Given the description of an element on the screen output the (x, y) to click on. 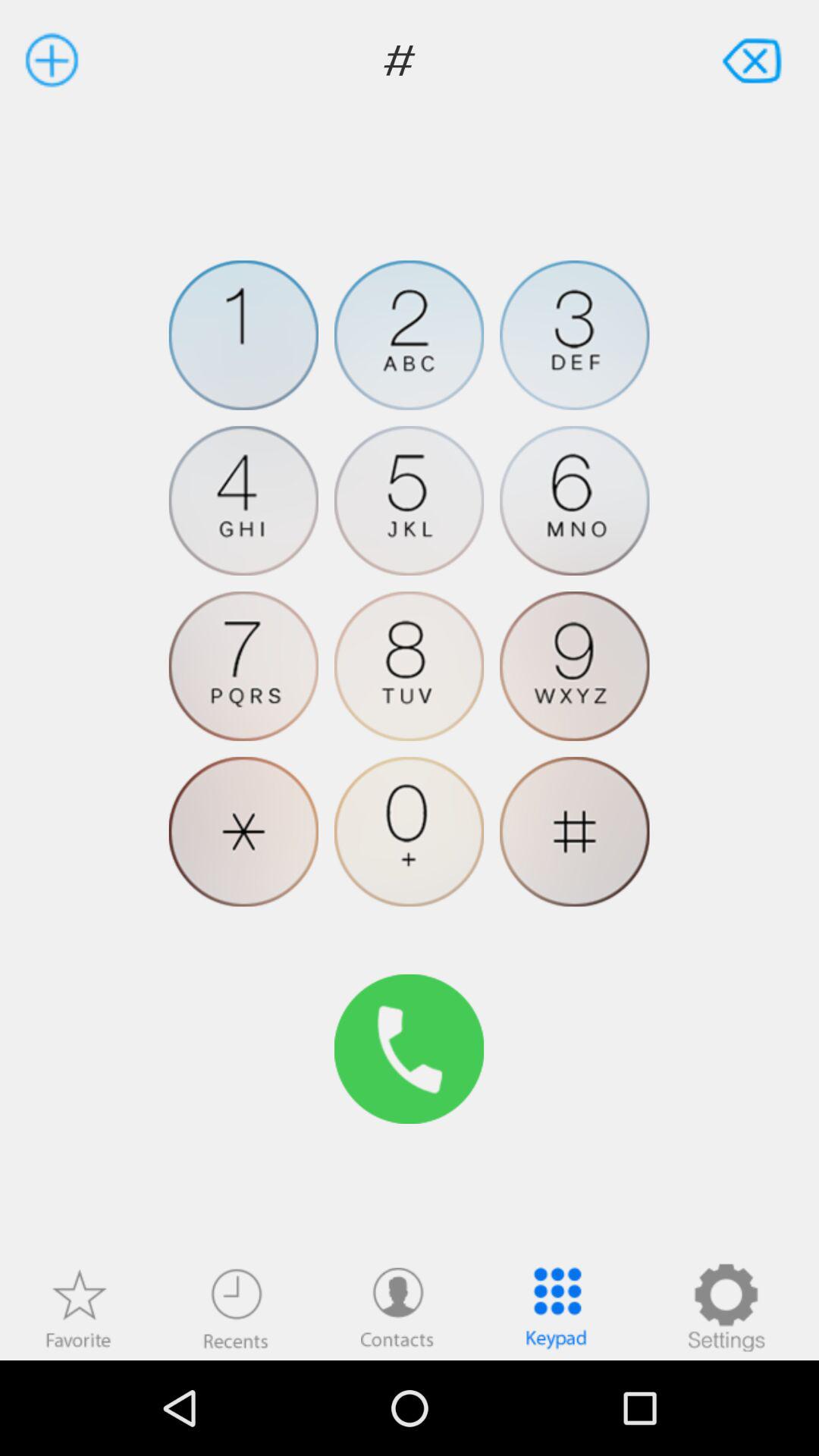
number 8 in phone pad for calling (409, 666)
